Given the description of an element on the screen output the (x, y) to click on. 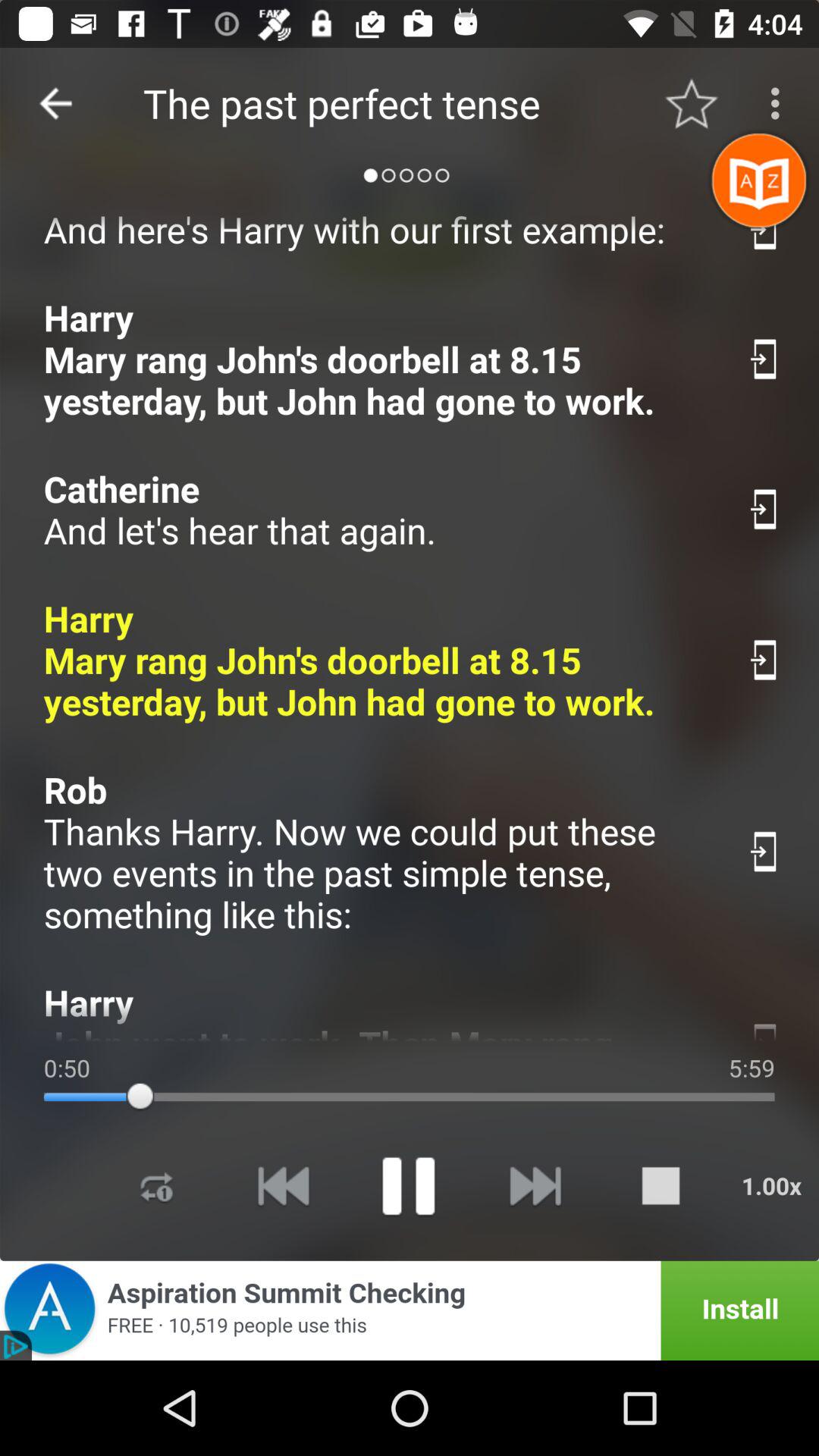
play on repeat (157, 1185)
